Given the description of an element on the screen output the (x, y) to click on. 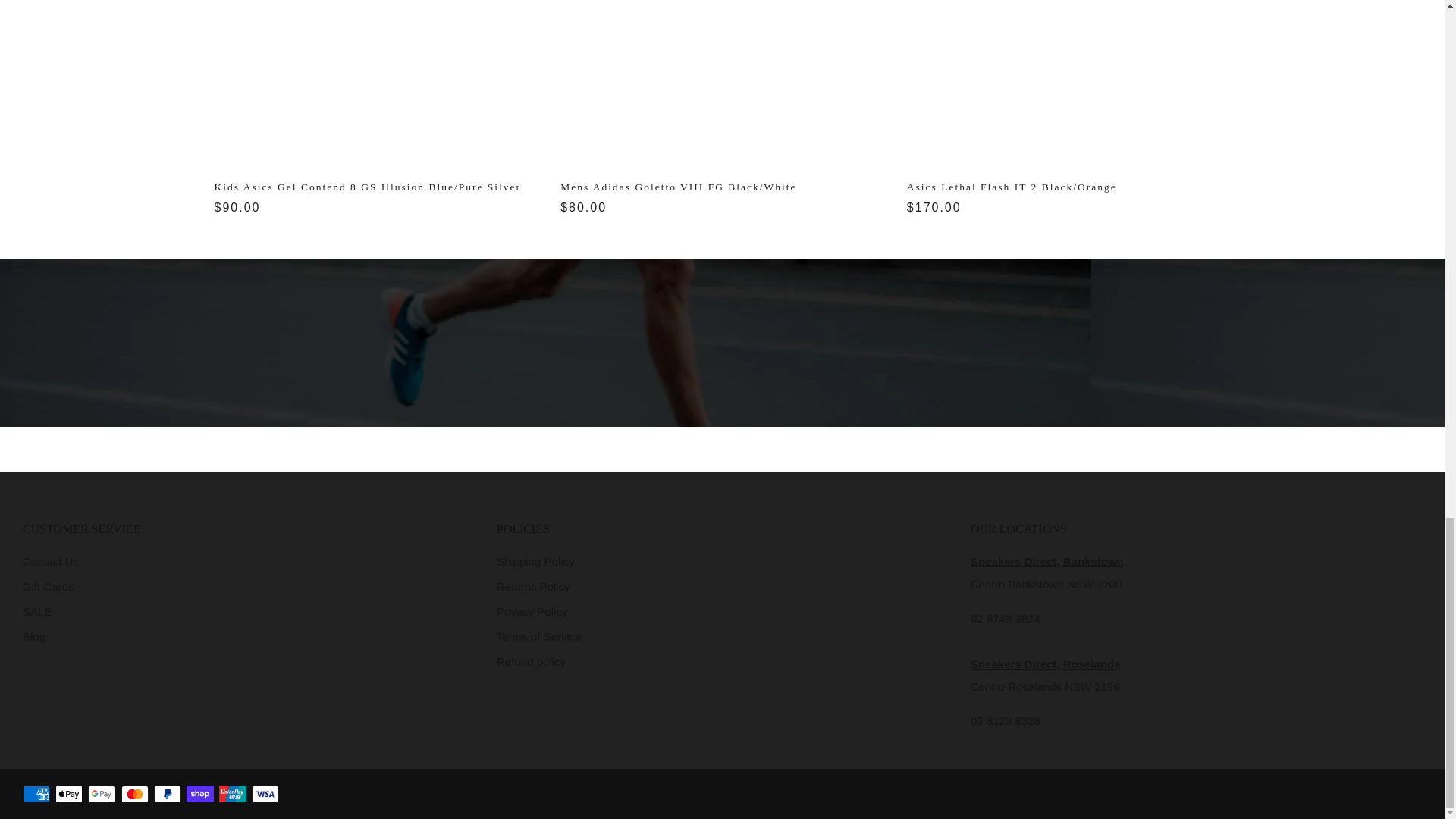
Sneakers Store Sydney - Roselands (1046, 663)
Sneakers Store Sydney - Bankstown (1047, 561)
